Given the description of an element on the screen output the (x, y) to click on. 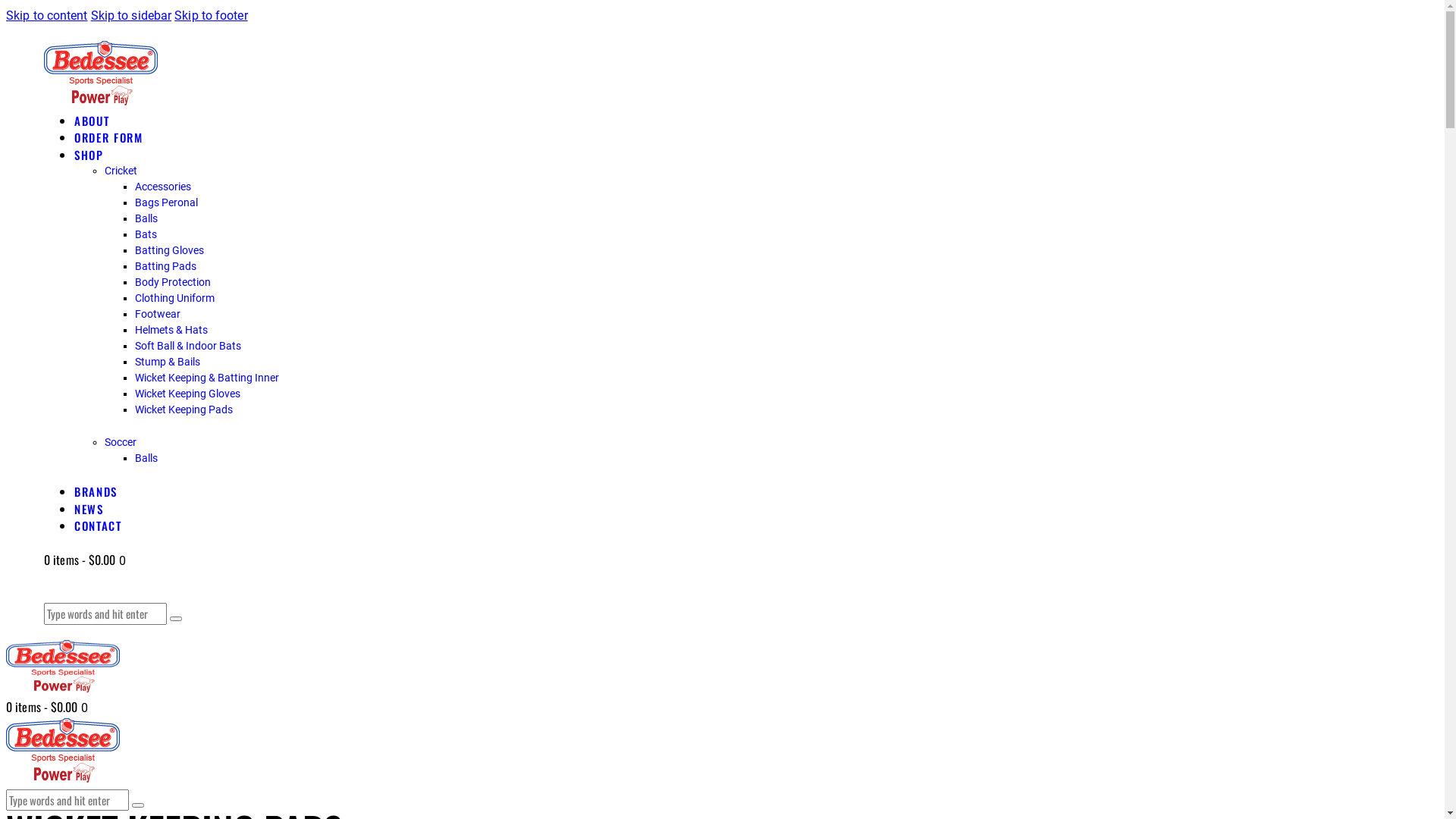
Batting Gloves Element type: text (168, 250)
ABOUT Element type: text (91, 120)
Balls Element type: text (145, 457)
Skip to footer Element type: text (210, 15)
Wicket Keeping & Batting Inner Element type: text (206, 377)
Clothing Uniform Element type: text (174, 297)
Wicket Keeping Gloves Element type: text (187, 393)
CONTACT Element type: text (98, 525)
Footwear Element type: text (157, 313)
Soft Ball & Indoor Bats Element type: text (187, 345)
Stump & Bails Element type: text (167, 361)
Bags Peronal Element type: text (165, 202)
NEWS Element type: text (88, 508)
BRANDS Element type: text (95, 491)
Balls Element type: text (145, 218)
SHOP Element type: text (88, 154)
Skip to content Element type: text (46, 15)
Accessories Element type: text (162, 186)
Cricket Element type: text (120, 170)
Batting Pads Element type: text (165, 266)
Helmets & Hats Element type: text (170, 329)
Soccer Element type: text (120, 442)
Bats Element type: text (145, 234)
ORDER FORM Element type: text (108, 136)
Skip to sidebar Element type: text (131, 15)
Body Protection Element type: text (172, 282)
Wicket Keeping Pads Element type: text (183, 409)
